Given the description of an element on the screen output the (x, y) to click on. 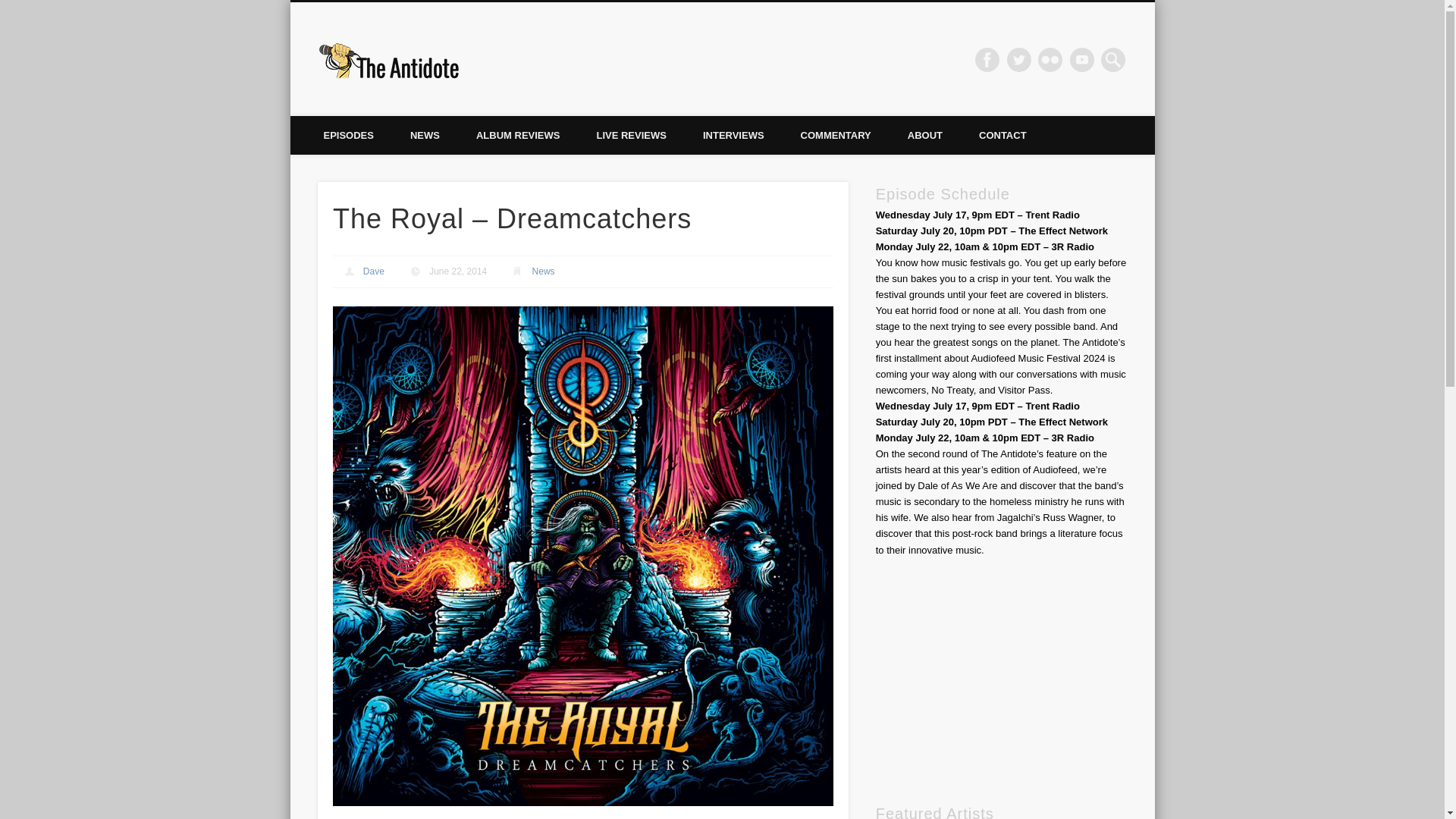
INTERVIEWS (733, 135)
Posts by Dave (373, 271)
ABOUT (924, 135)
Vimeo (1082, 59)
EPISODES (347, 135)
The Antidote (539, 59)
LIVE REVIEWS (631, 135)
ALBUM REVIEWS (518, 135)
NEWS (424, 135)
News (543, 271)
Advertisement (1001, 678)
CONTACT (1002, 135)
Search (11, 7)
Facebook (986, 59)
COMMENTARY (836, 135)
